Given the description of an element on the screen output the (x, y) to click on. 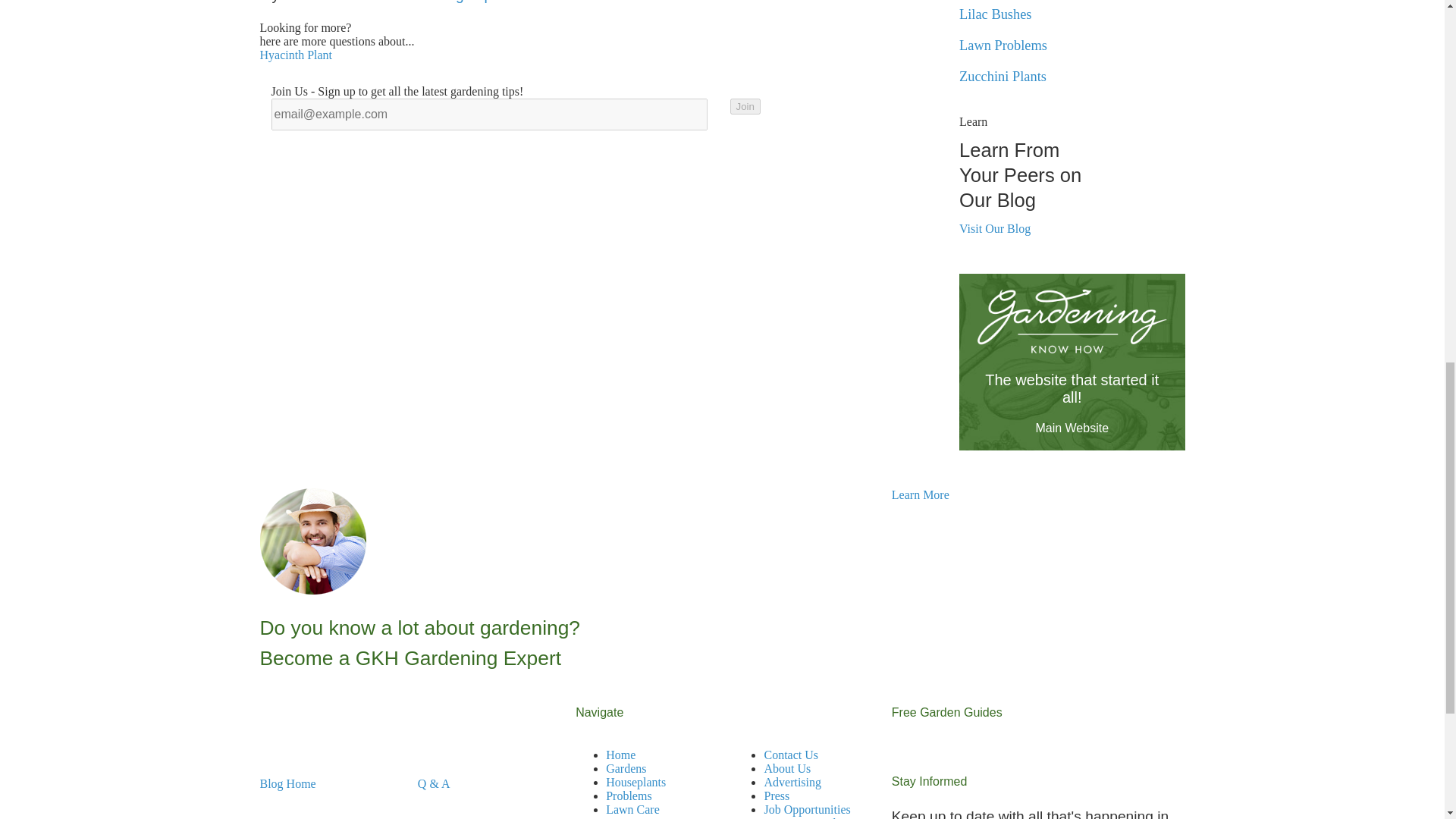
sign up for an account (516, 1)
Hyacinth Plant (295, 54)
Join (744, 106)
